Given the description of an element on the screen output the (x, y) to click on. 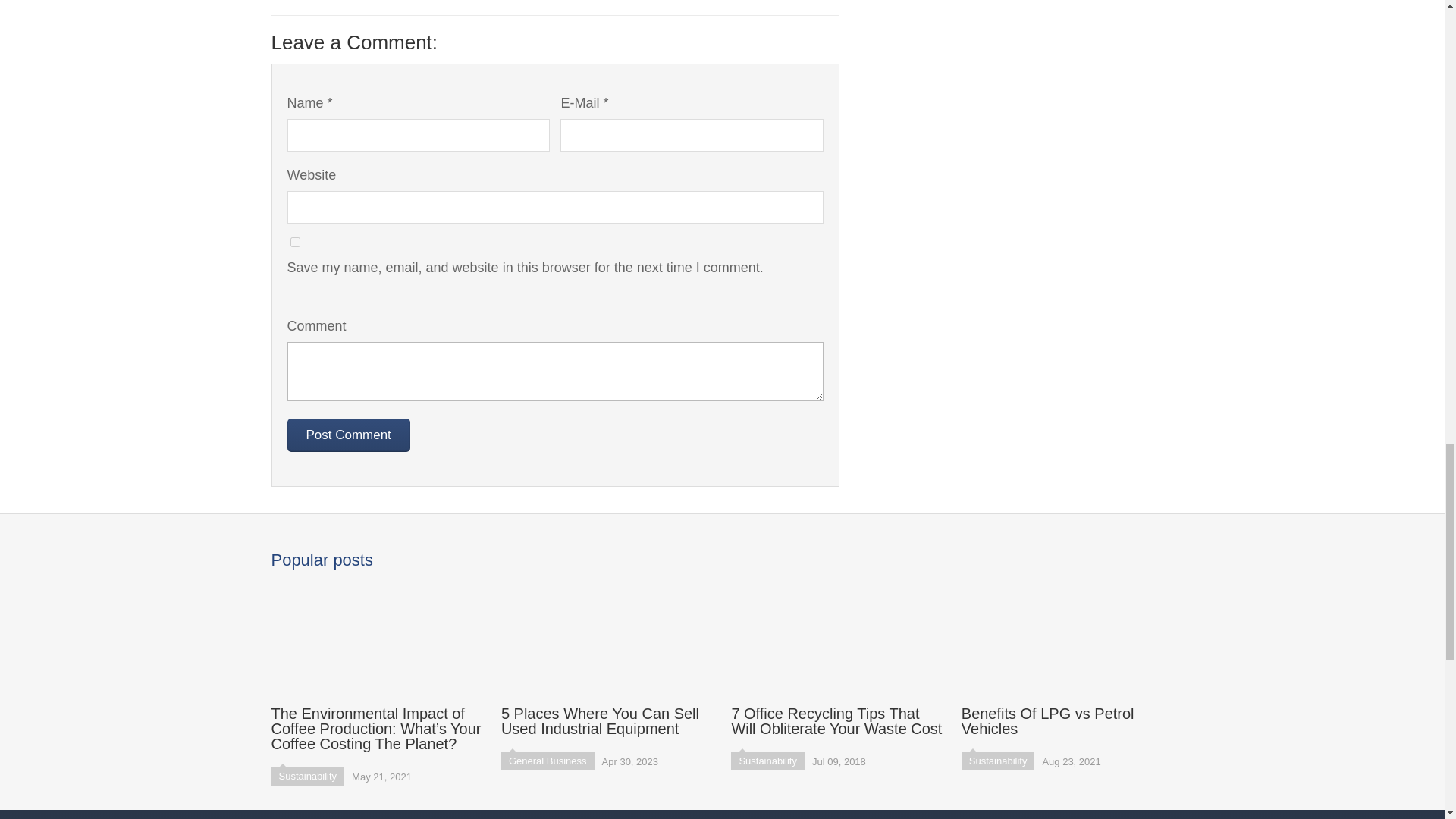
yes (294, 242)
7 Office Recycling Tips That Will Obliterate Your Waste Cost (836, 657)
Post Comment (347, 435)
Benefits Of LPG vs Petrol Vehicles (1066, 657)
5 Places Where You Can Sell Used Industrial Equipment (606, 657)
General Business (547, 760)
Post Comment (347, 435)
Sustainability (307, 775)
Sustainability (767, 760)
